Given the description of an element on the screen output the (x, y) to click on. 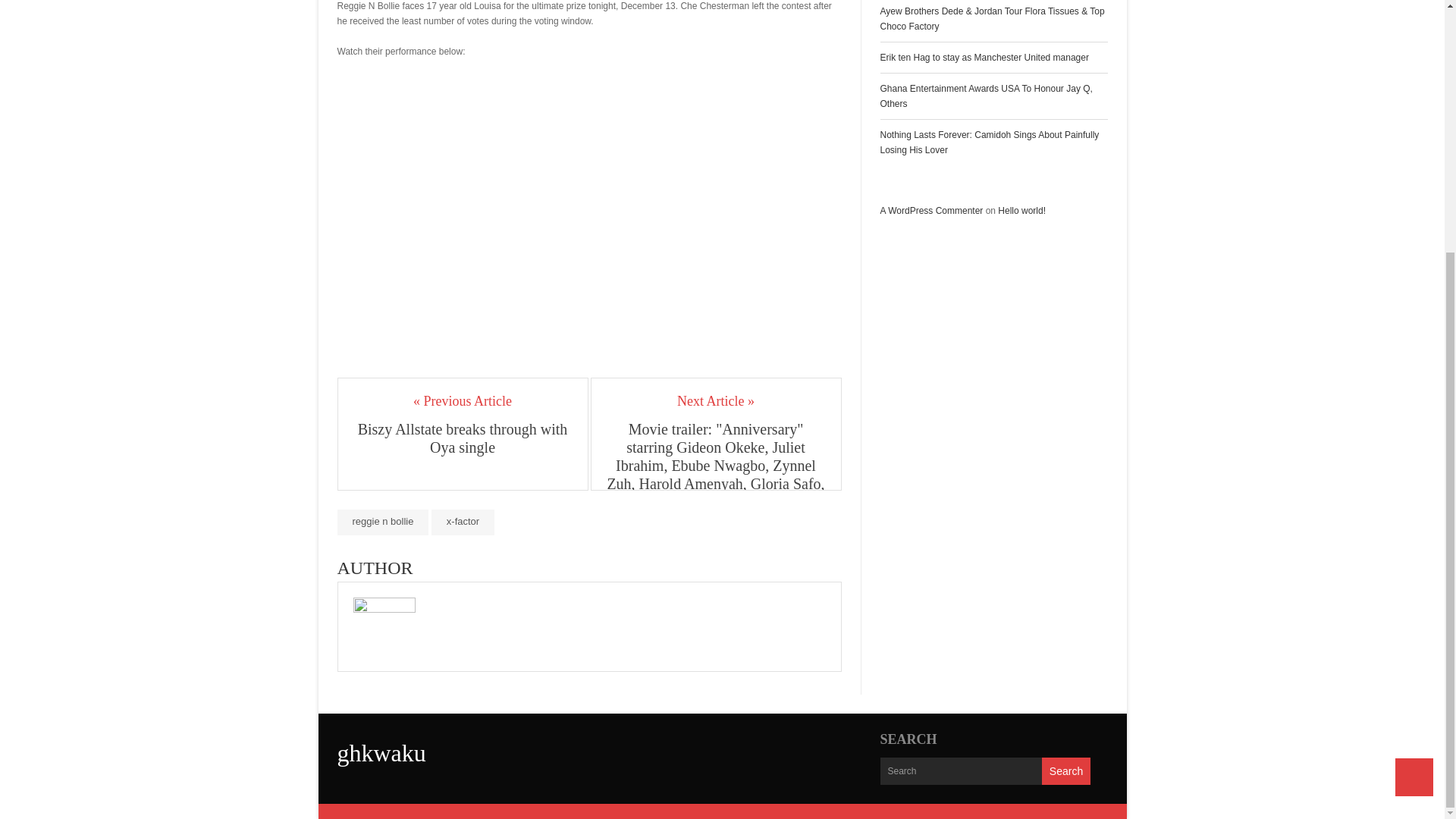
Ghana Entertainment Awards USA To Honour Jay Q, Others (985, 95)
Search (1066, 770)
Search (1066, 770)
x-factor (462, 522)
reggie n bollie (382, 522)
A WordPress Commenter (930, 210)
ghkwaku (380, 752)
Biszy Allstate breaks through with Oya single (462, 438)
Erik ten Hag to stay as Manchester United manager (983, 57)
